Given the description of an element on the screen output the (x, y) to click on. 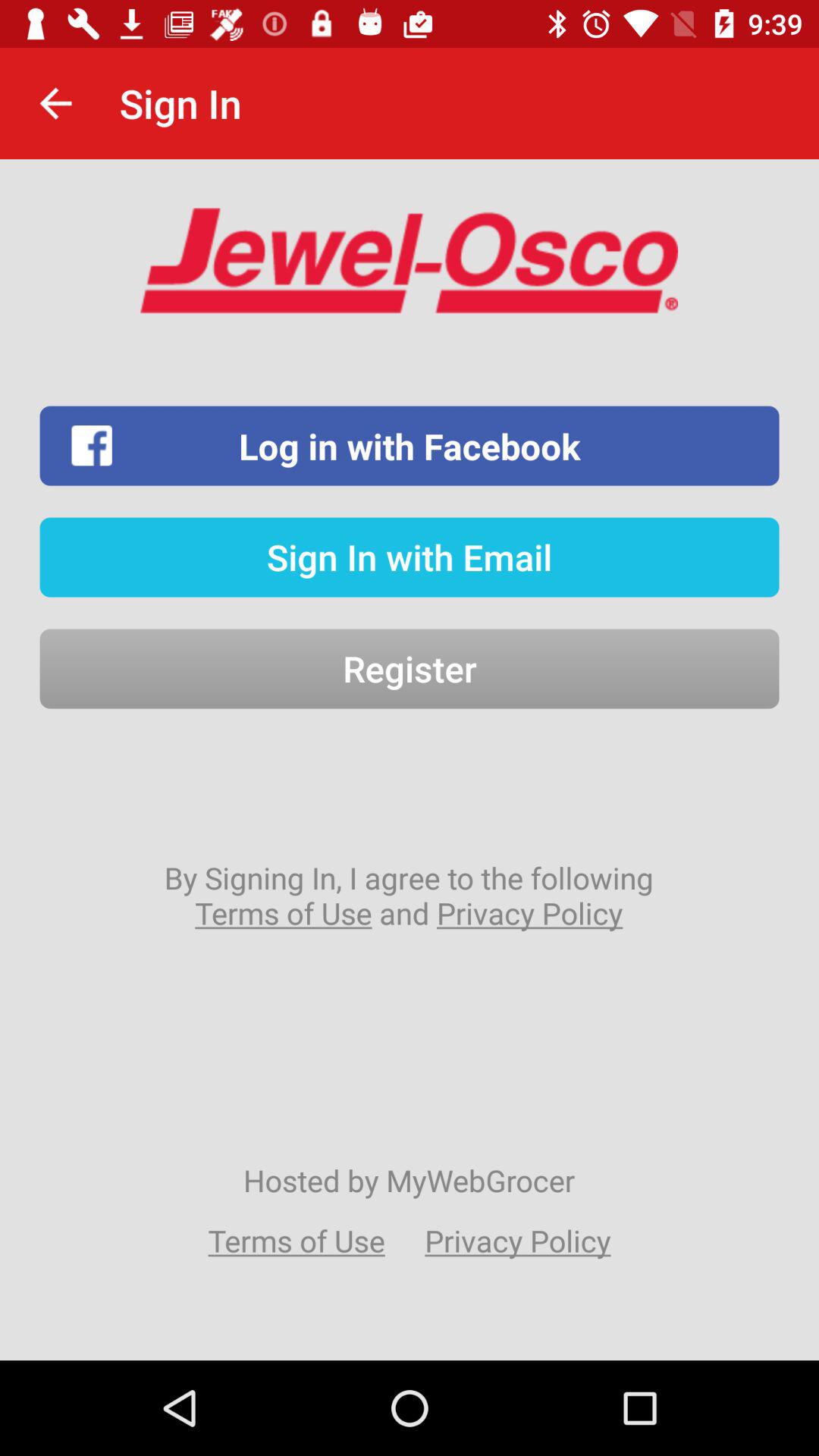
click the item to the left of the sign in (55, 103)
